Given the description of an element on the screen output the (x, y) to click on. 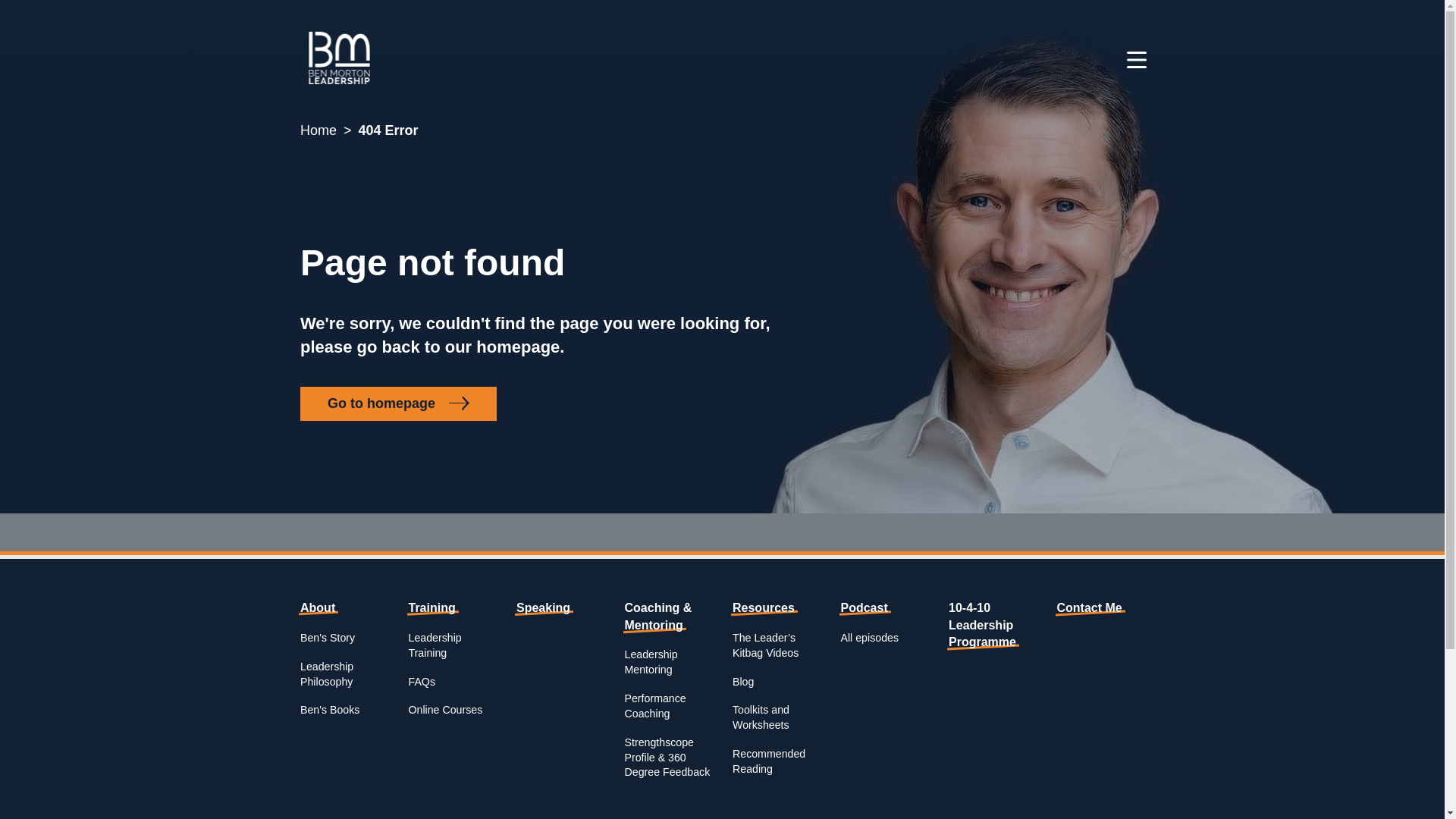
Speaking (543, 607)
Training (430, 607)
Go to homepage (397, 403)
Leadership Training (434, 645)
About (316, 607)
FAQs (420, 680)
Leadership Mentoring (651, 661)
Ben's Books (329, 709)
Performance Coaching (654, 705)
Home (317, 130)
